Given the description of an element on the screen output the (x, y) to click on. 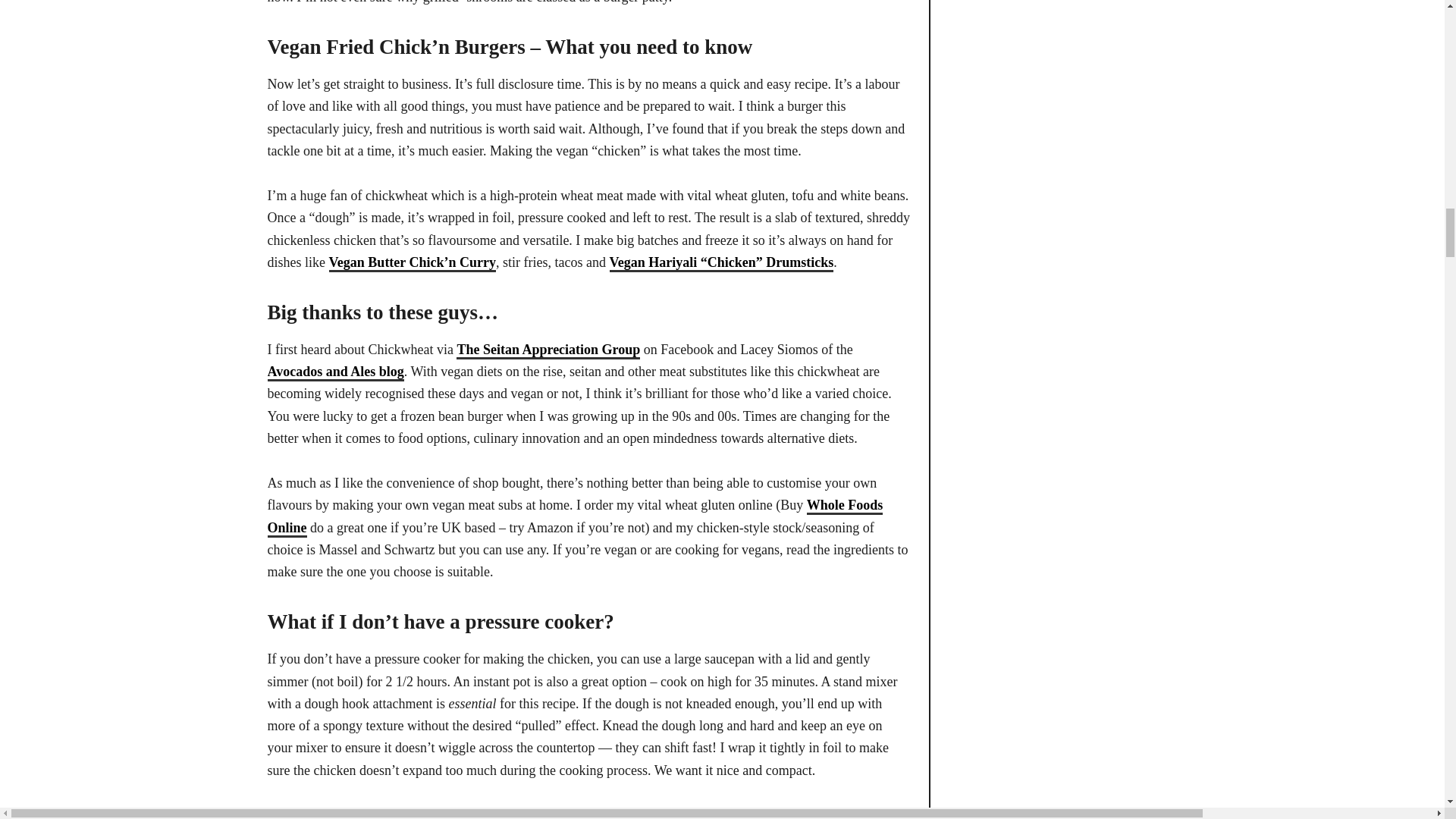
Vegan (348, 262)
The Seitan Appreciation Group (548, 350)
Whole Foods Online (574, 517)
Avocados and Ales blog (334, 372)
